Given the description of an element on the screen output the (x, y) to click on. 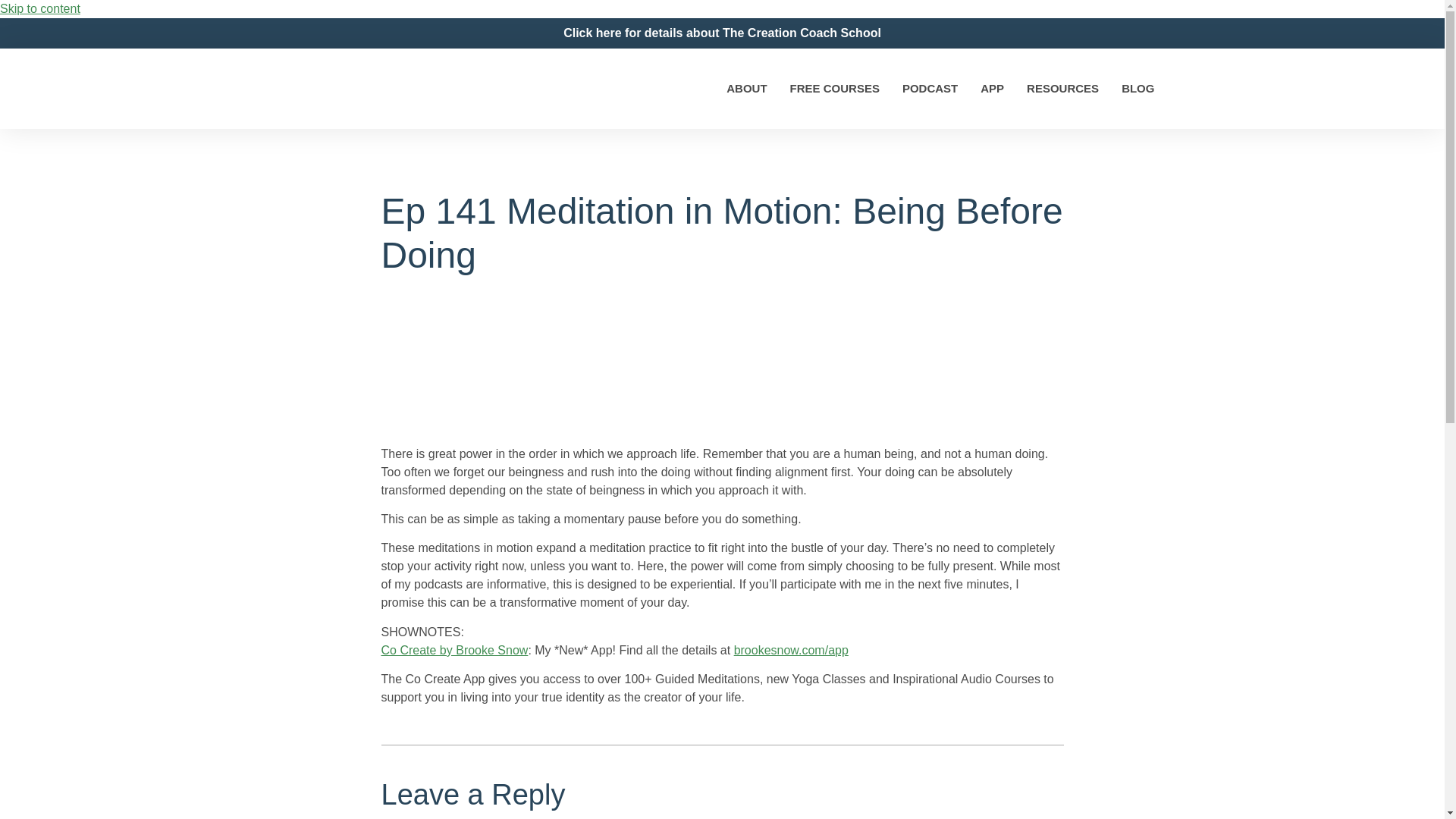
Co Create by Brooke Snow (453, 649)
RESOURCES (1062, 88)
BLOG (1137, 88)
ABOUT (746, 88)
PODCAST (930, 88)
Skip to content (40, 8)
FREE COURSES (834, 88)
APP (991, 88)
